Given the description of an element on the screen output the (x, y) to click on. 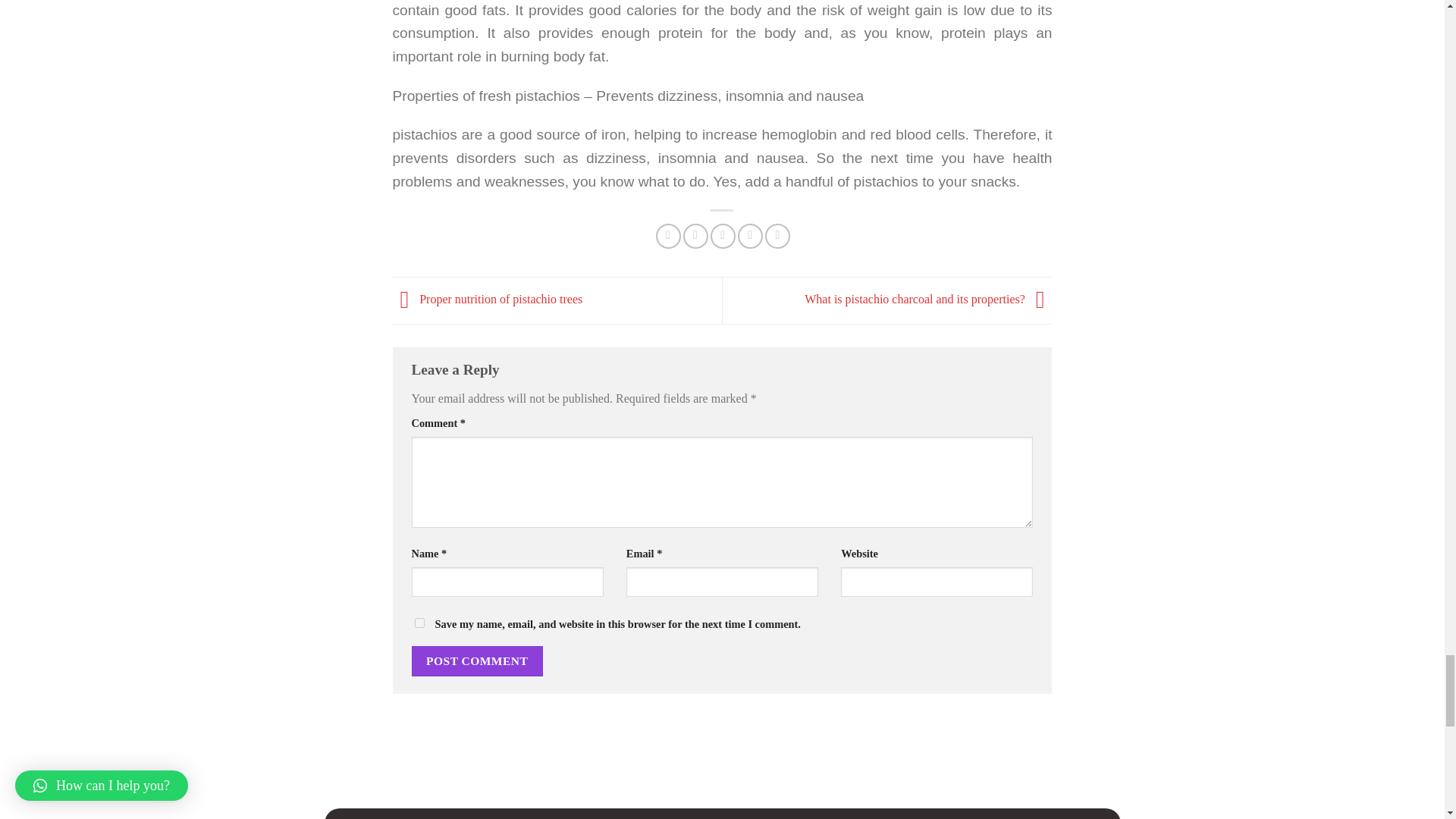
yes (418, 623)
Proper nutrition of pistachio trees (488, 298)
Share on Facebook (668, 235)
Email to a Friend (722, 235)
Post Comment (475, 660)
Share on LinkedIn (777, 235)
Share on Twitter (694, 235)
Post Comment (475, 660)
What is pistachio charcoal and its properties? (928, 298)
Pin on Pinterest (750, 235)
